Given the description of an element on the screen output the (x, y) to click on. 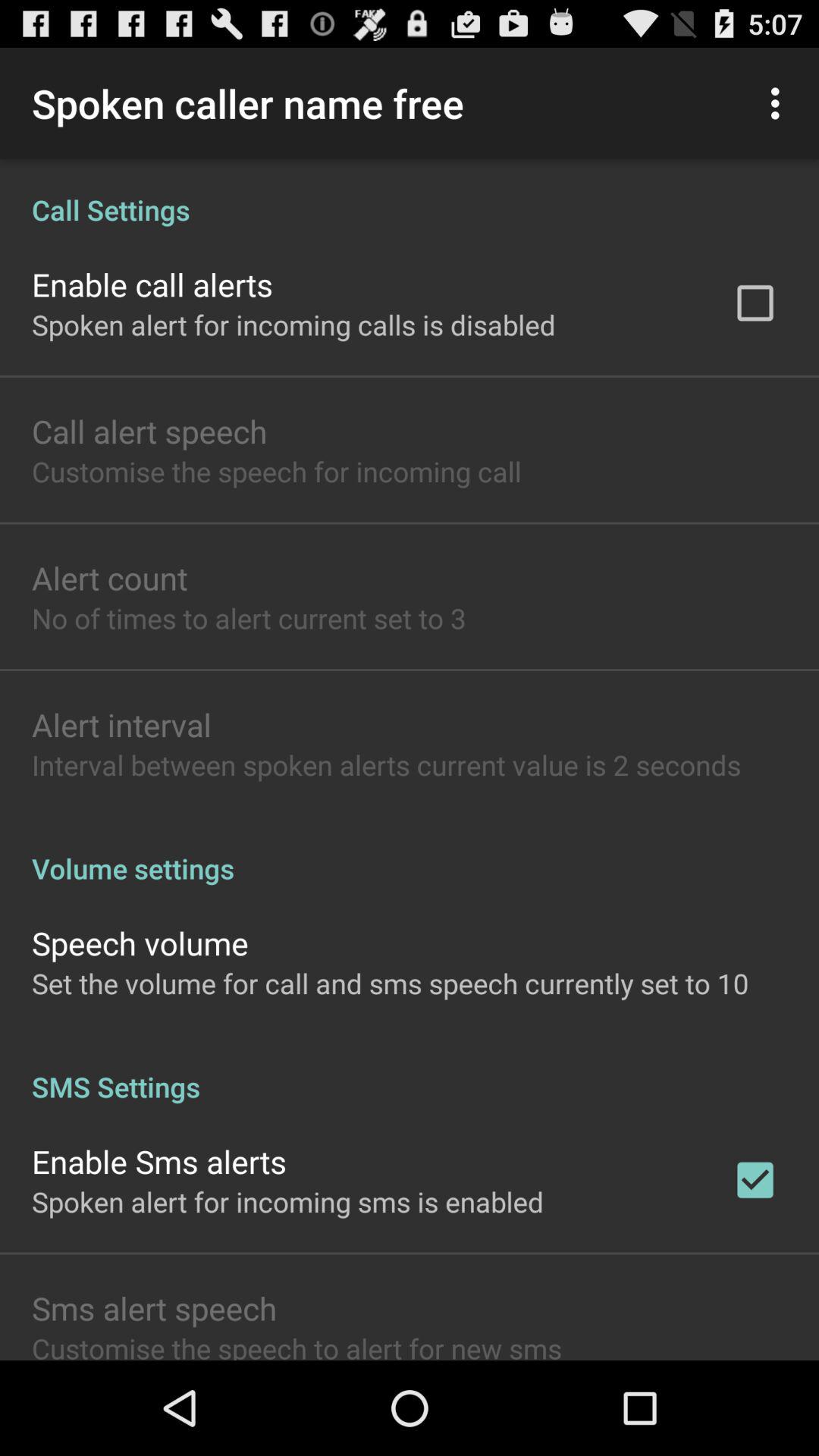
turn on the app above the enable sms alerts app (409, 1070)
